Given the description of an element on the screen output the (x, y) to click on. 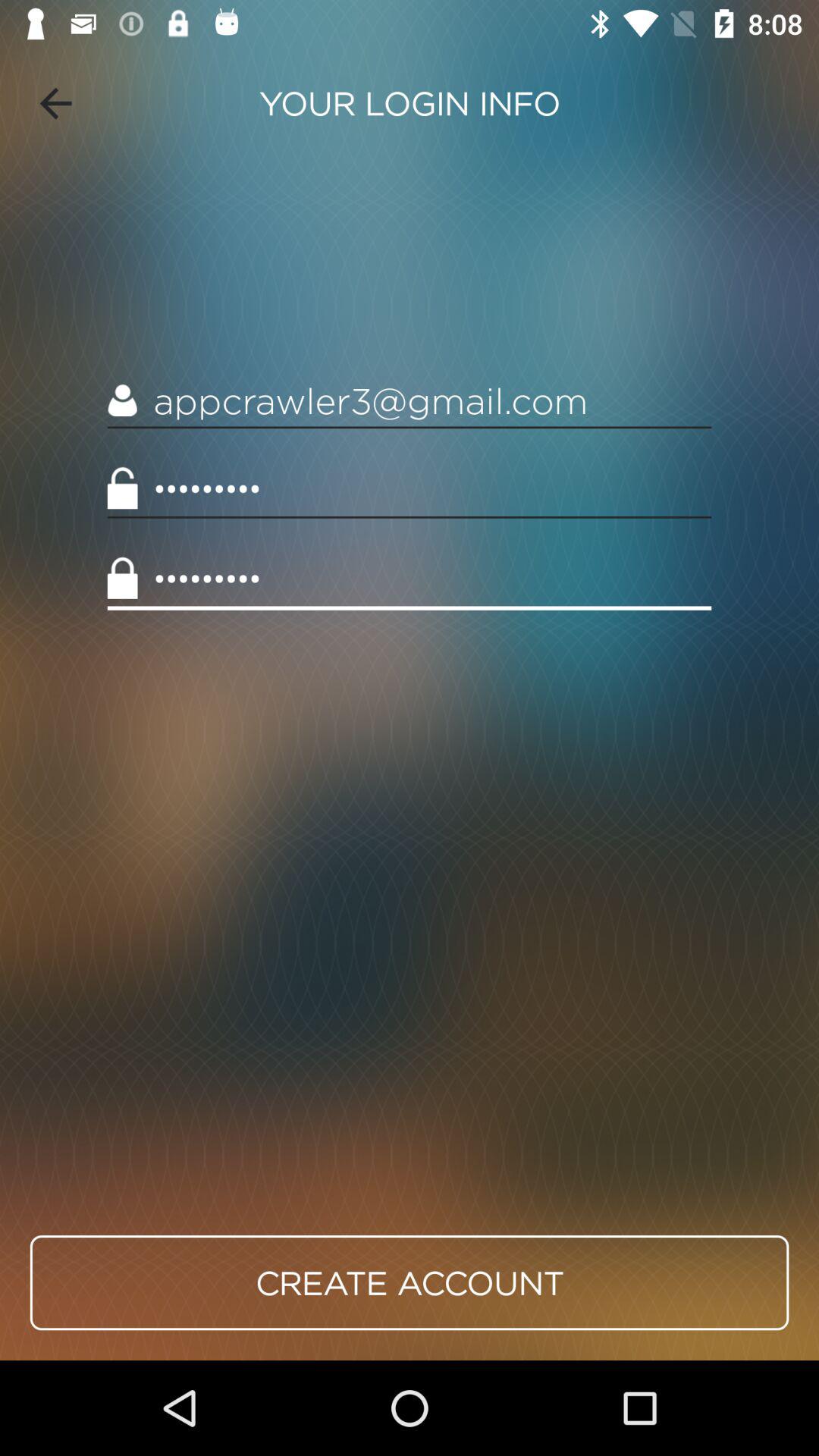
turn on the app to the left of the your login info icon (55, 103)
